Given the description of an element on the screen output the (x, y) to click on. 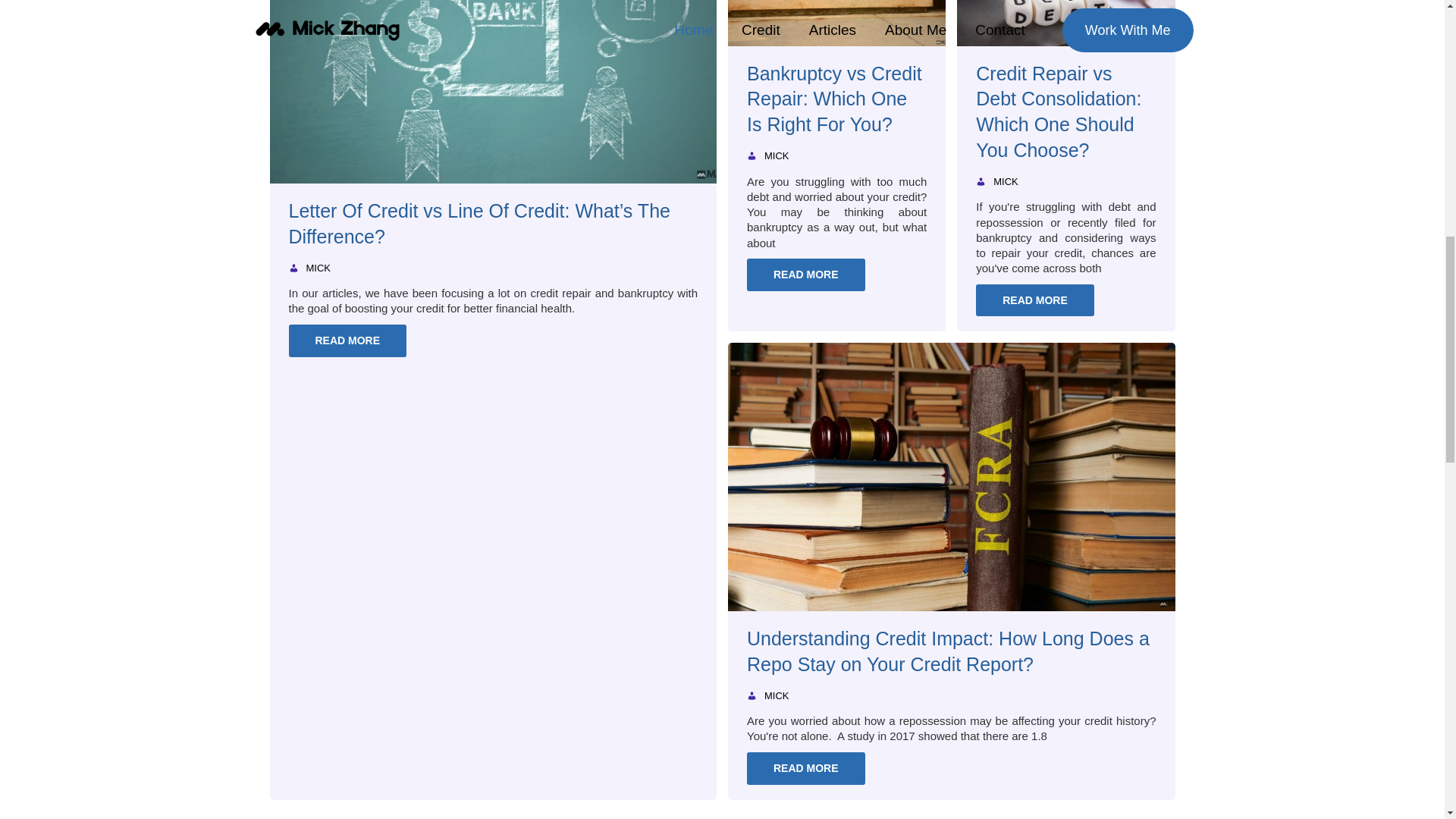
MICK (776, 695)
READ MORE (805, 274)
READ MORE (805, 768)
Bankruptcy vs Credit Repair: Which One Is Right For You? (836, 99)
MICK (776, 155)
MICK (1004, 182)
READ MORE (347, 340)
MICK (318, 268)
READ MORE (1034, 300)
